Given the description of an element on the screen output the (x, y) to click on. 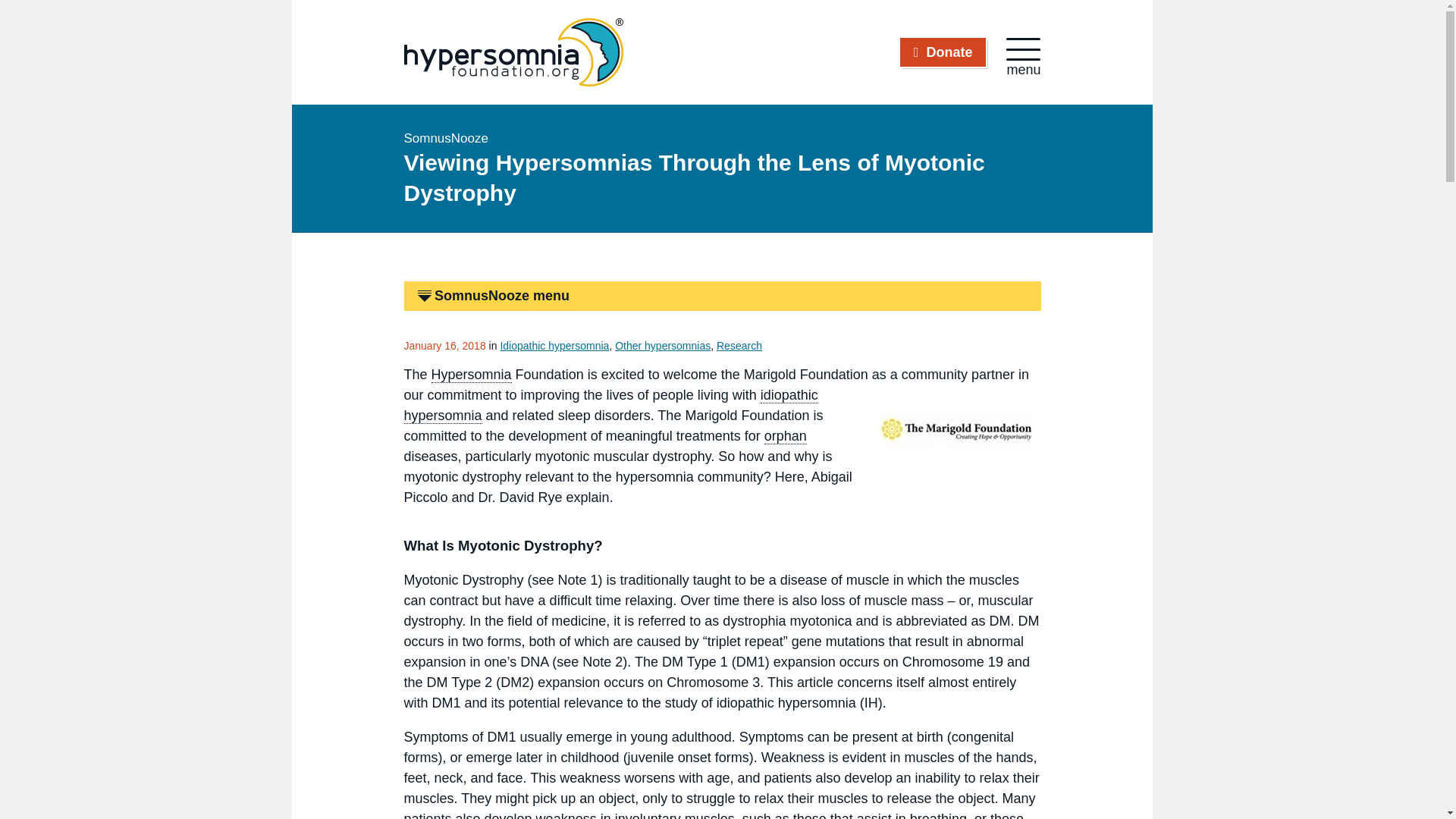
  Donate (943, 51)
